Given the description of an element on the screen output the (x, y) to click on. 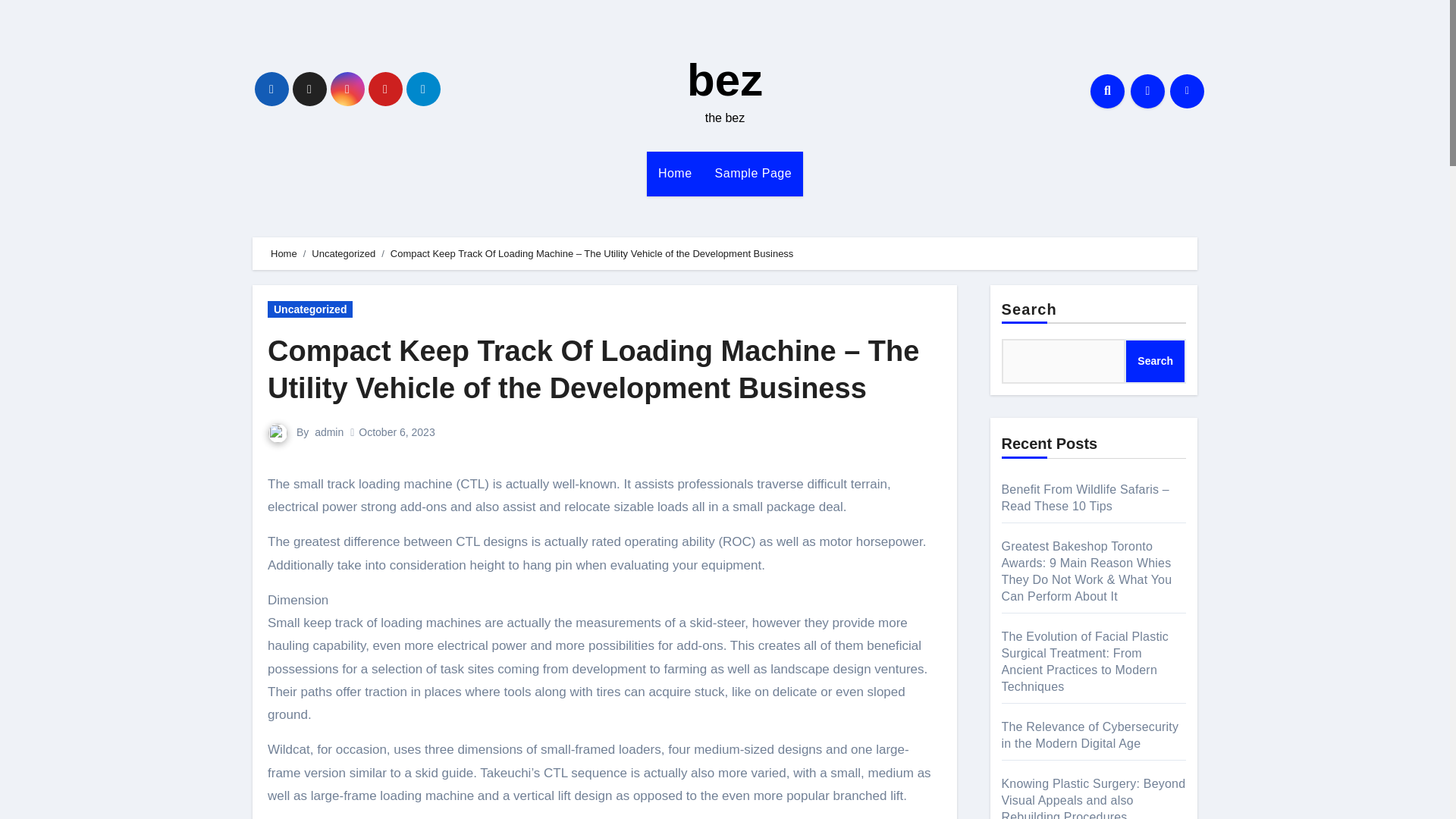
Uncategorized (309, 309)
Sample Page (753, 173)
October 6, 2023 (395, 431)
bez (724, 79)
Home (674, 173)
Home (283, 253)
Uncategorized (343, 253)
admin (328, 431)
Home (674, 173)
